Given the description of an element on the screen output the (x, y) to click on. 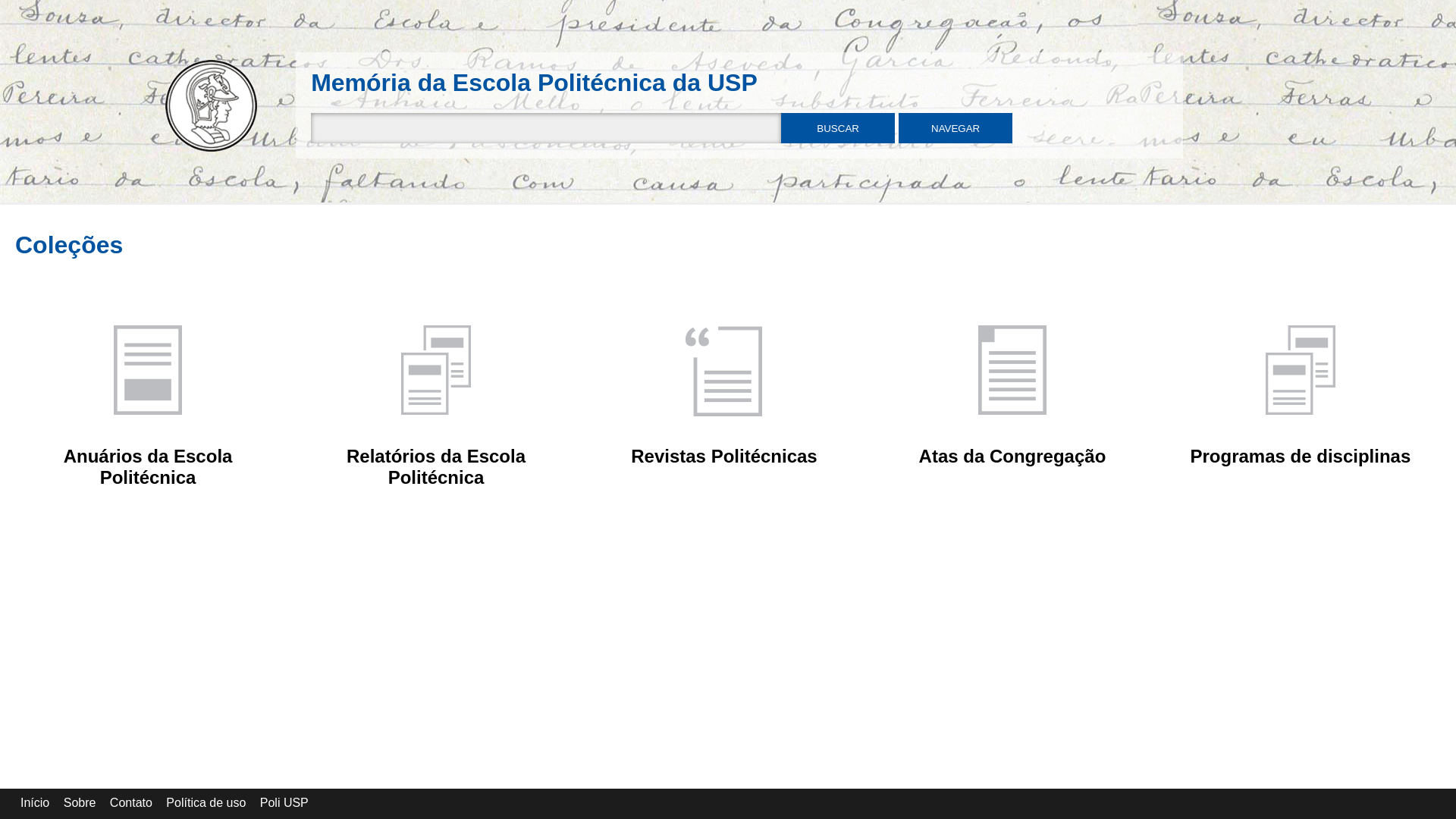
Navegar Element type: text (955, 127)
Sobre Element type: text (79, 802)
Buscar Element type: text (837, 127)
Contato Element type: text (130, 802)
Programas de disciplinas Element type: text (1300, 455)
Poli USP Element type: text (284, 802)
